Given the description of an element on the screen output the (x, y) to click on. 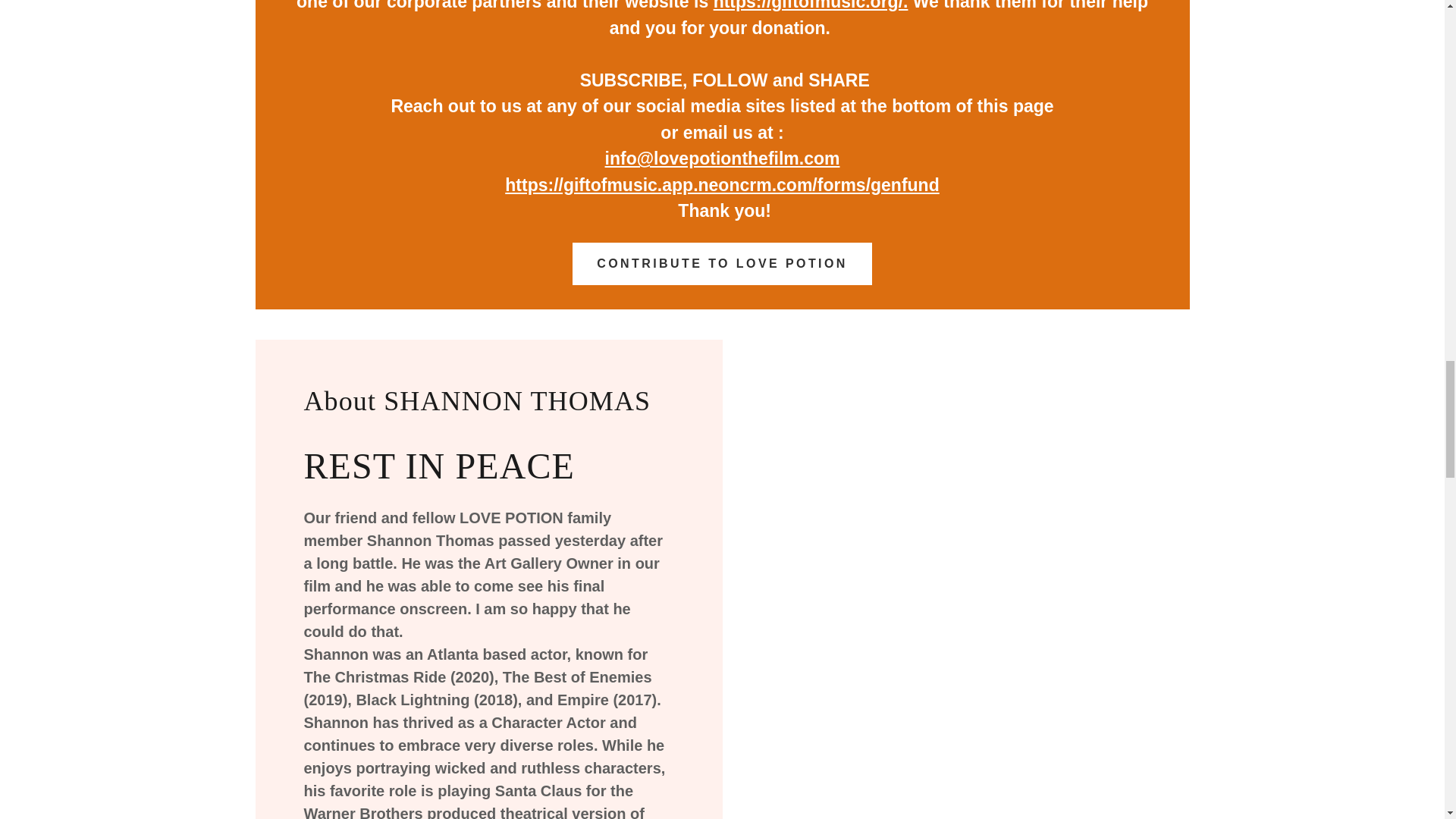
CONTRIBUTE TO LOVE POTION (722, 263)
